Given the description of an element on the screen output the (x, y) to click on. 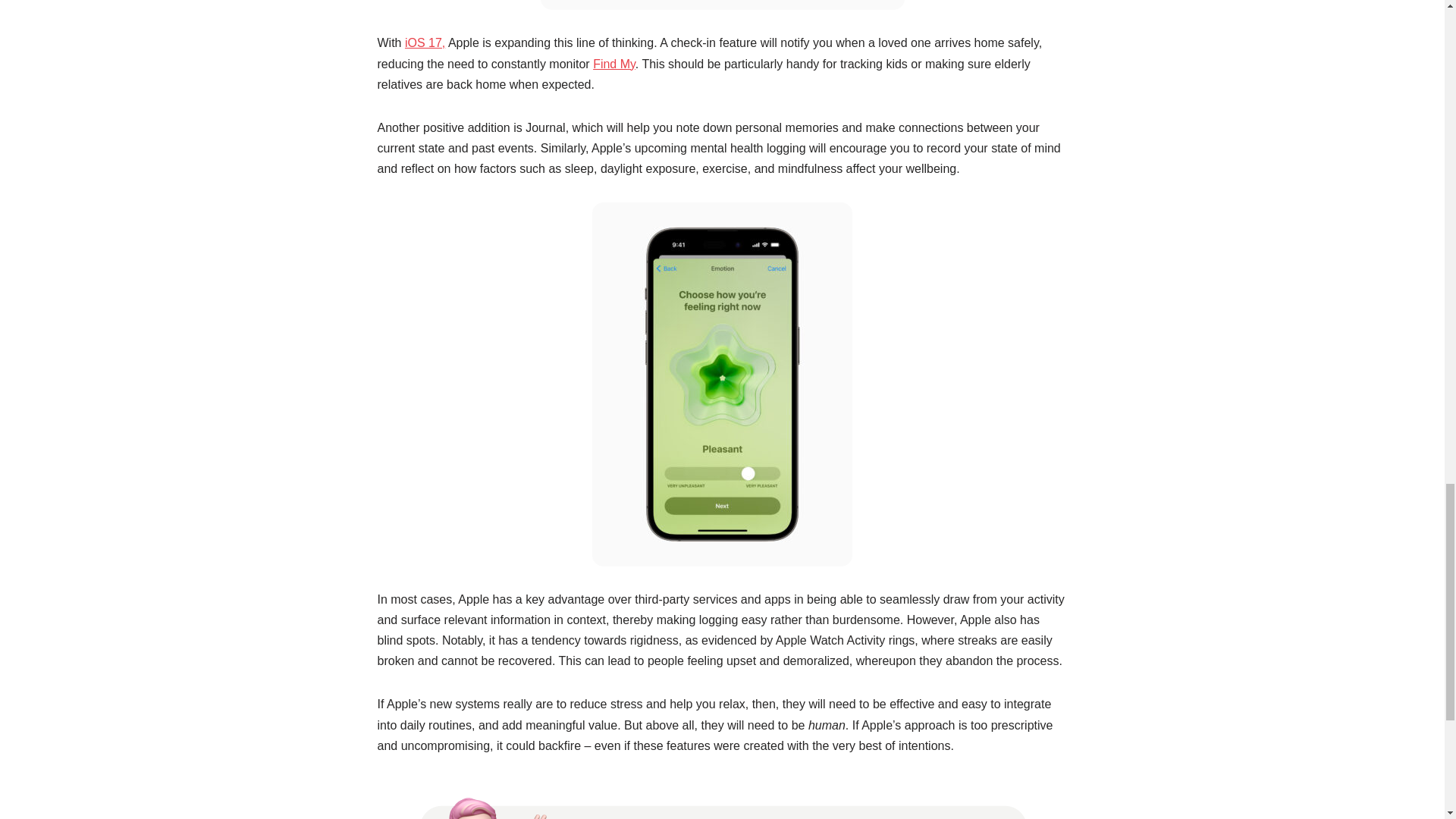
iOS 17, (424, 42)
Find My (613, 63)
